Given the description of an element on the screen output the (x, y) to click on. 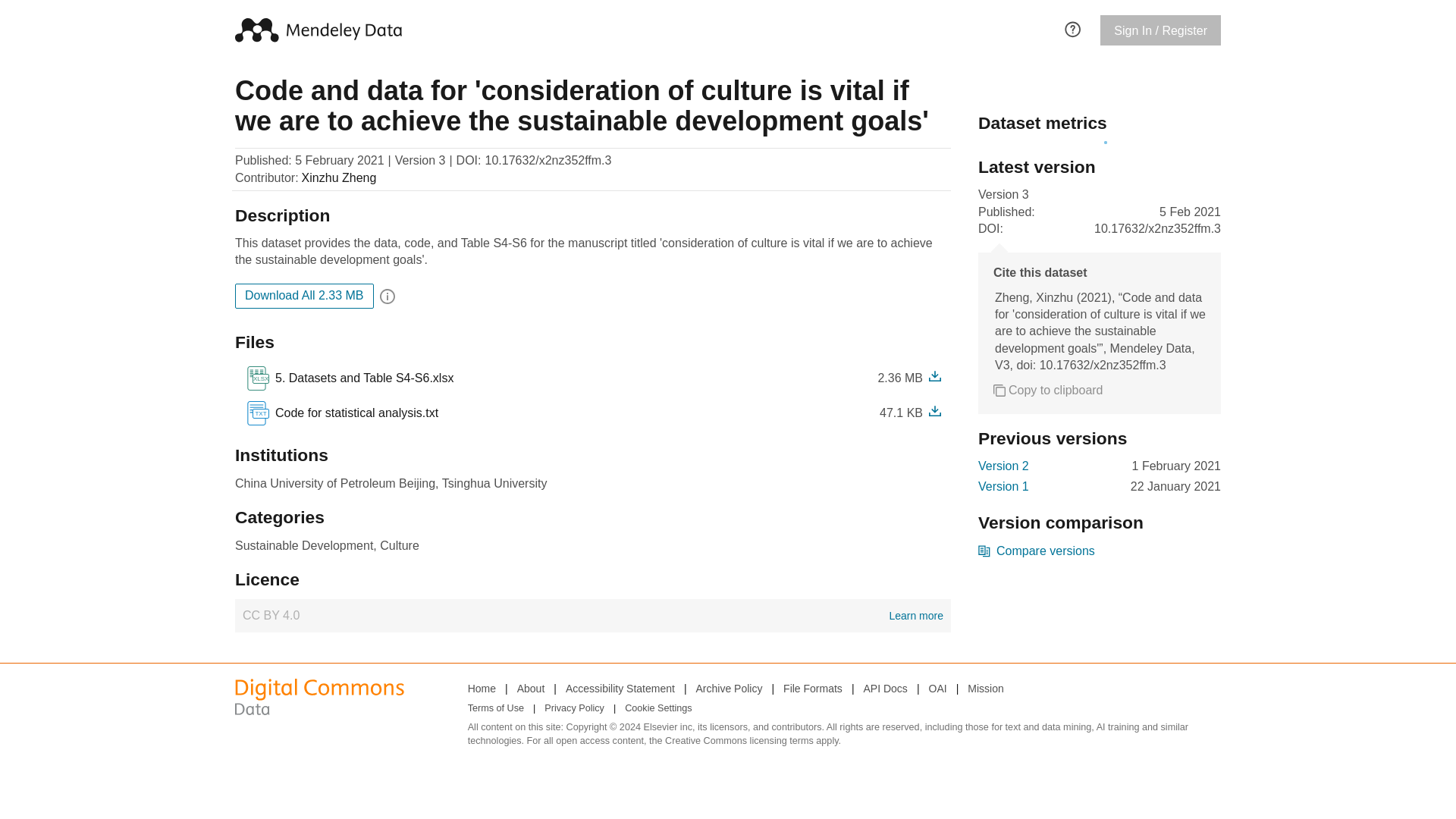
Copy to clipboard (1047, 390)
Privacy Policy (592, 615)
OAI (574, 709)
Terms of Use (937, 688)
Version 2 (495, 709)
5. Datasets and Table S4-S6.xlsx (341, 413)
FAQ (1003, 466)
Download All 2.33 MB (360, 378)
